Given the description of an element on the screen output the (x, y) to click on. 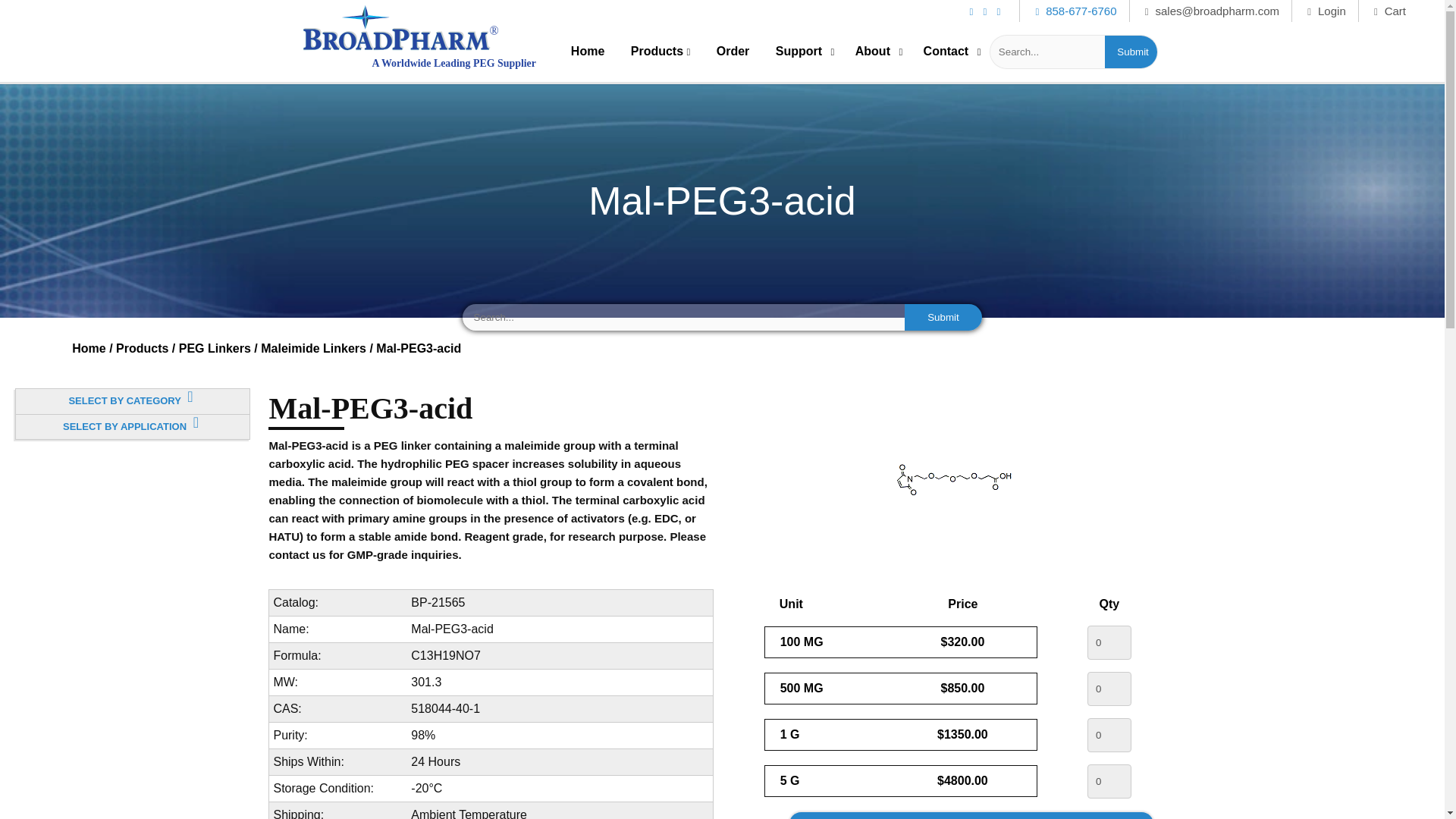
Submit (943, 316)
Products (660, 51)
858-677-6760 (1075, 10)
Home (588, 51)
ADD TO CART (971, 815)
0 (1109, 642)
Submit (1132, 51)
0 (1109, 781)
Login (1326, 10)
0 (1109, 688)
Cart (1390, 10)
0 (1109, 735)
